Given the description of an element on the screen output the (x, y) to click on. 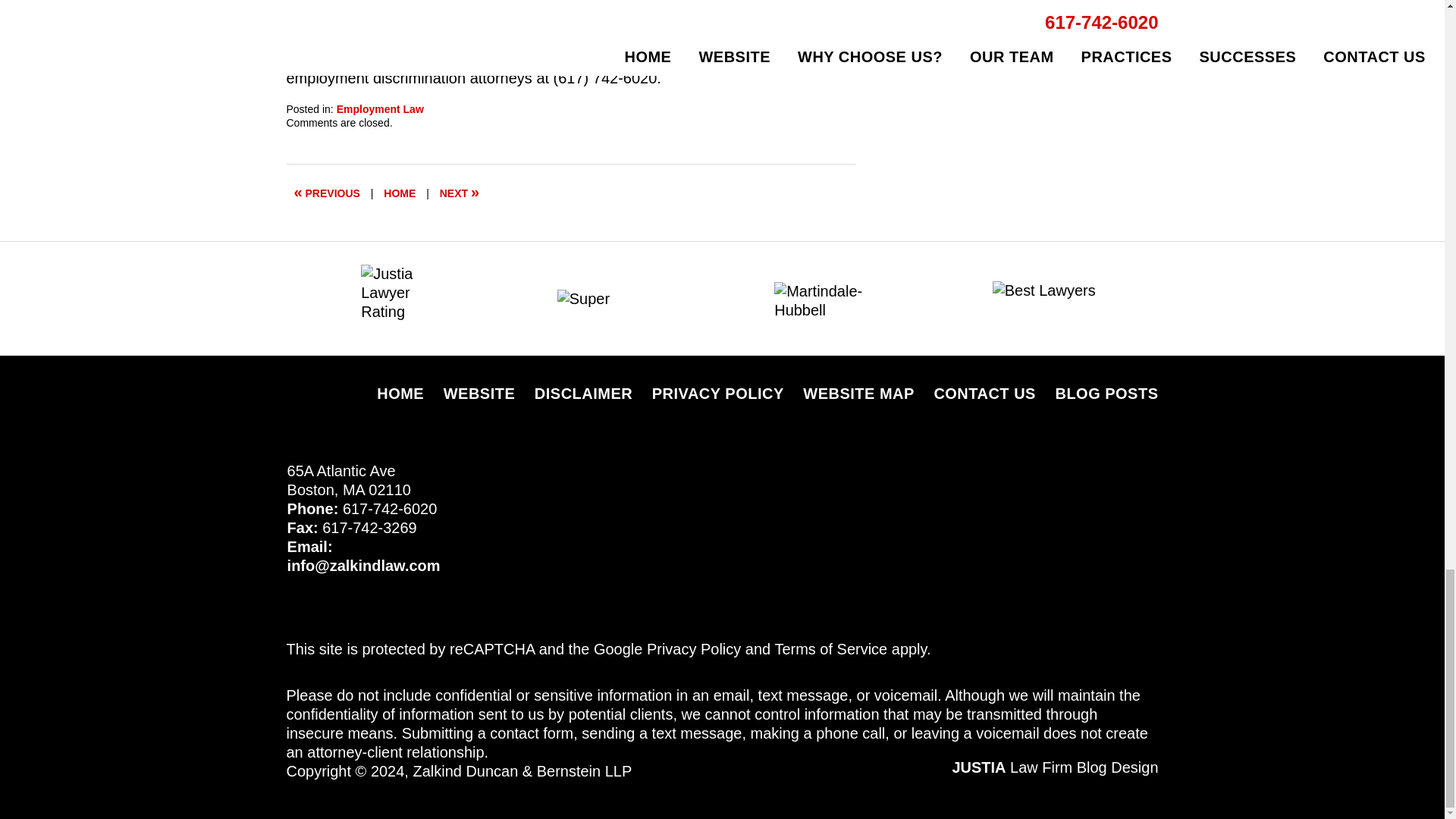
HOME (399, 193)
contact (715, 58)
Employment Law (379, 109)
View all posts in Employment Law (379, 109)
